Given the description of an element on the screen output the (x, y) to click on. 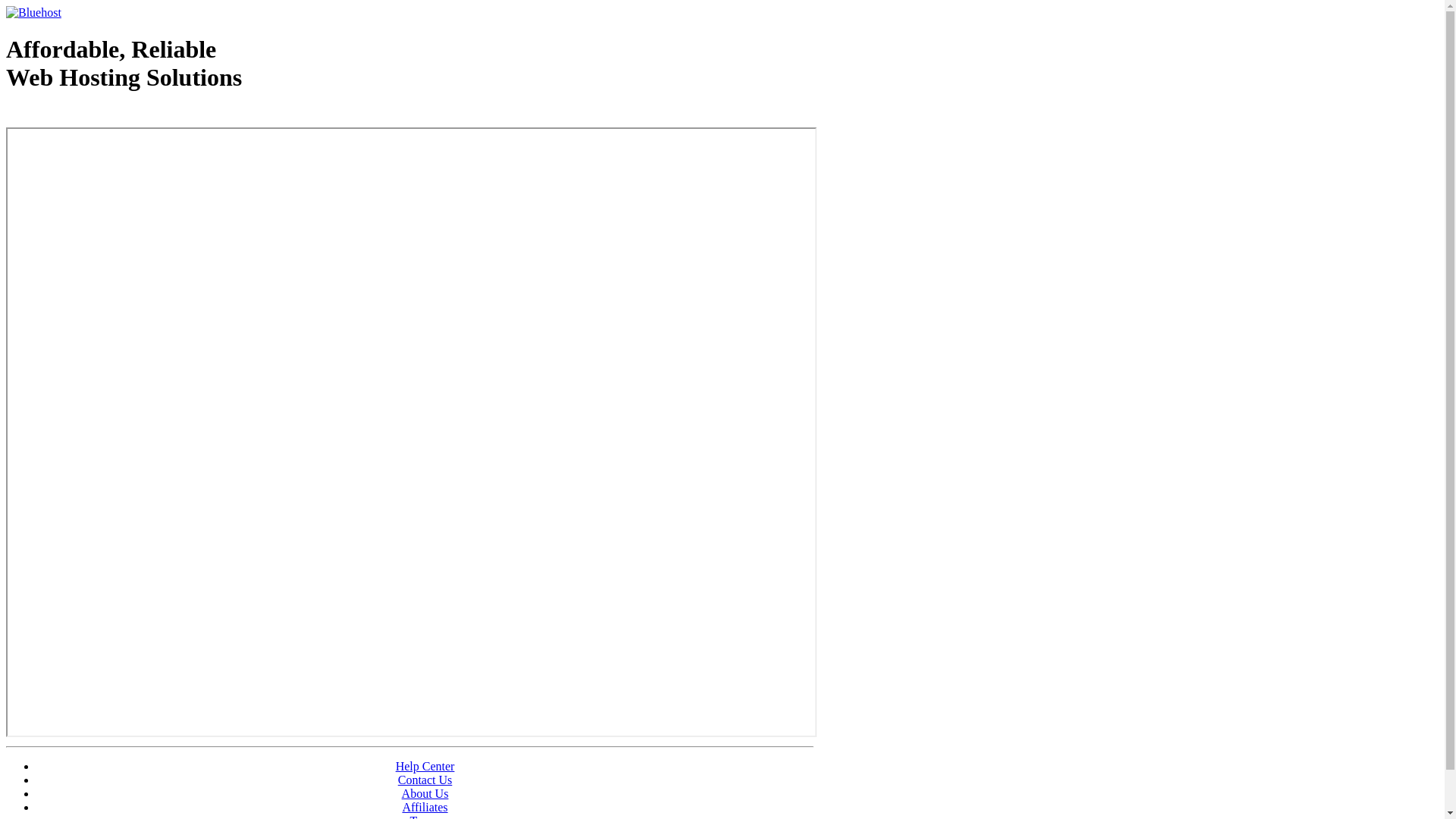
Contact Us Element type: text (425, 779)
Web Hosting - courtesy of www.bluehost.com Element type: text (94, 115)
Help Center Element type: text (425, 765)
About Us Element type: text (424, 793)
Affiliates Element type: text (424, 806)
